Given the description of an element on the screen output the (x, y) to click on. 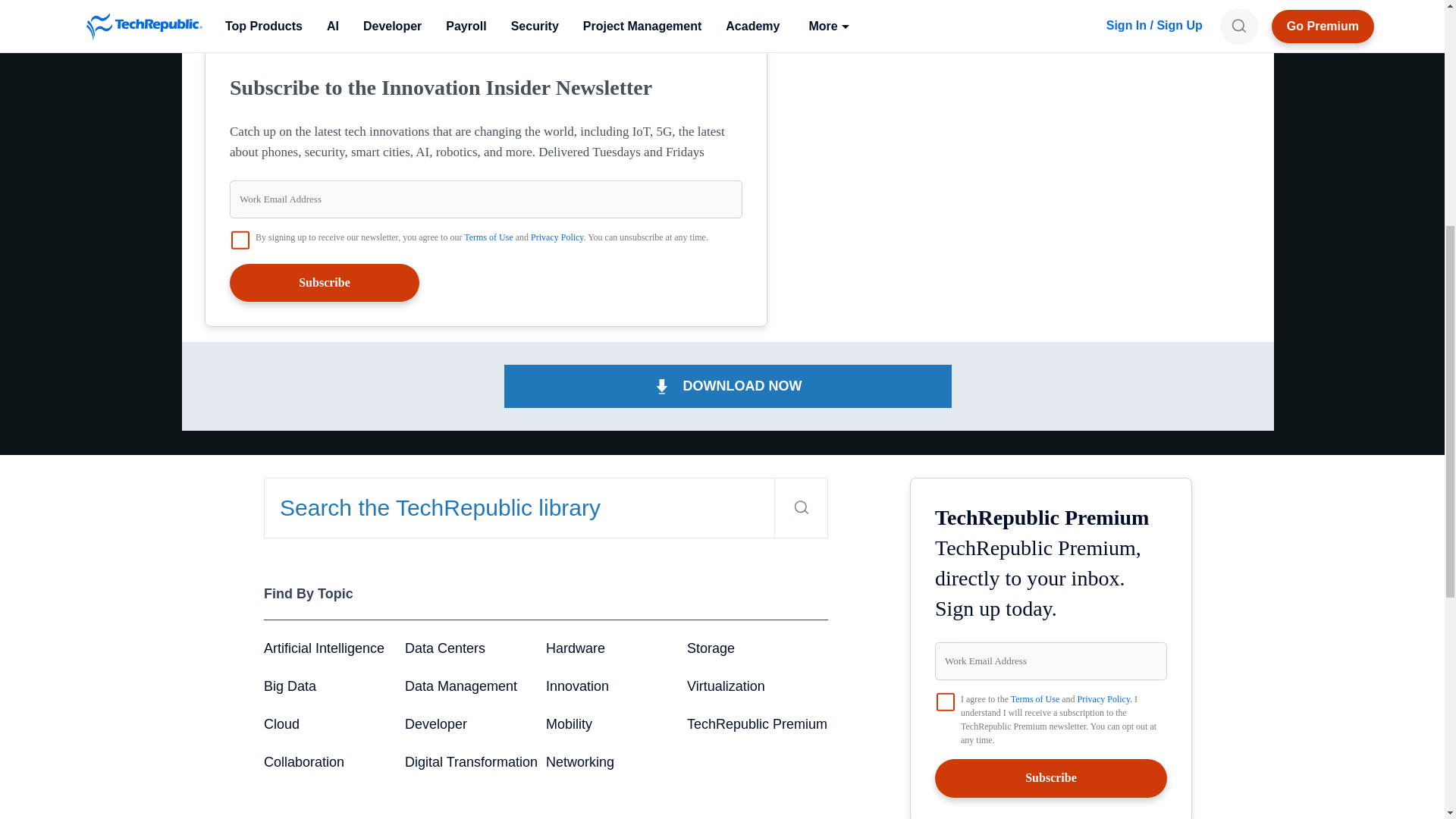
Terms of Use (488, 236)
Subscribe (324, 282)
on (239, 239)
on (945, 701)
Privacy Policy (557, 236)
